Given the description of an element on the screen output the (x, y) to click on. 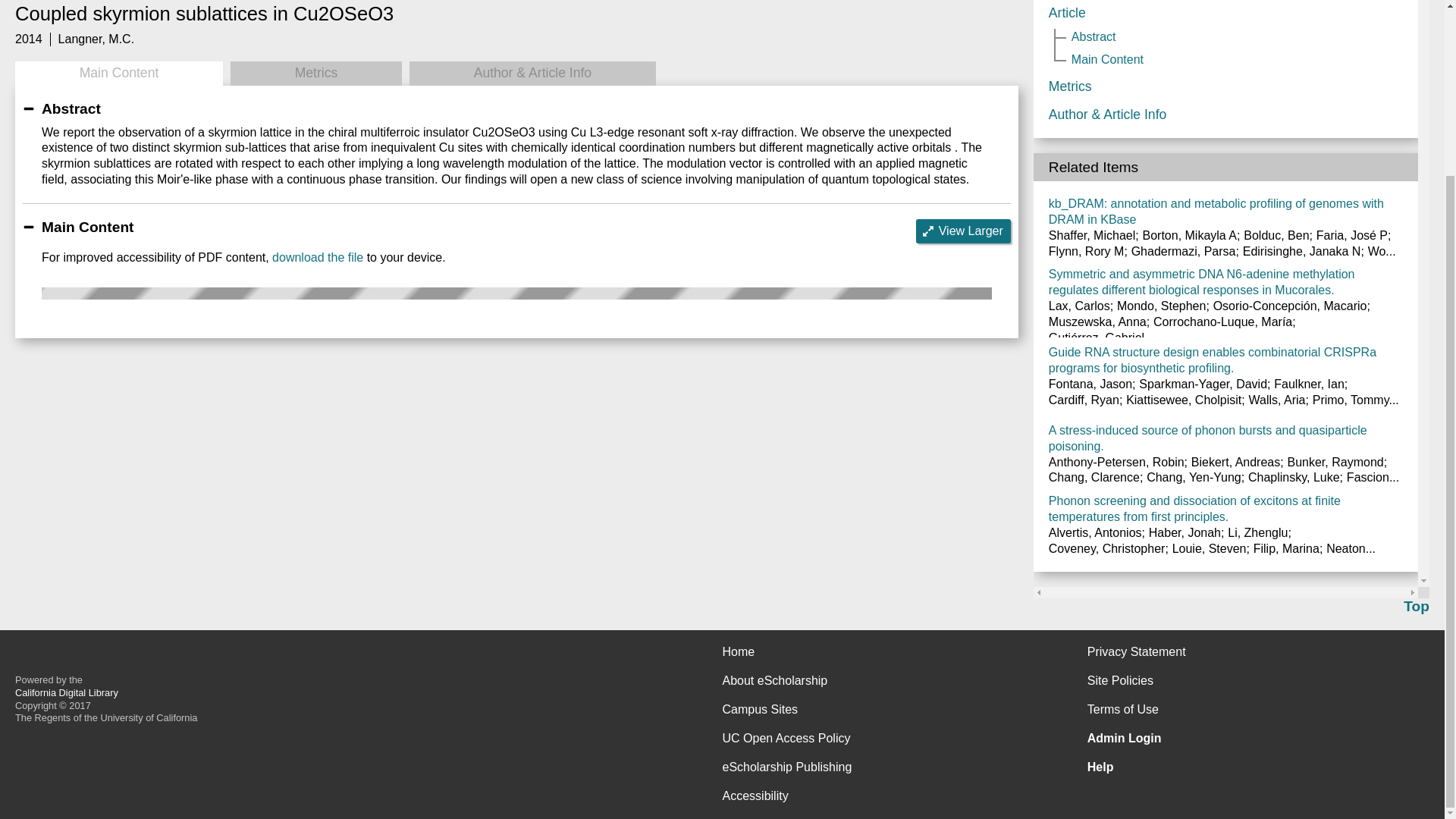
Main Content (118, 73)
View Larger (962, 231)
Metrics (315, 73)
download the file (317, 256)
Langner, M.C. (96, 38)
